Given the description of an element on the screen output the (x, y) to click on. 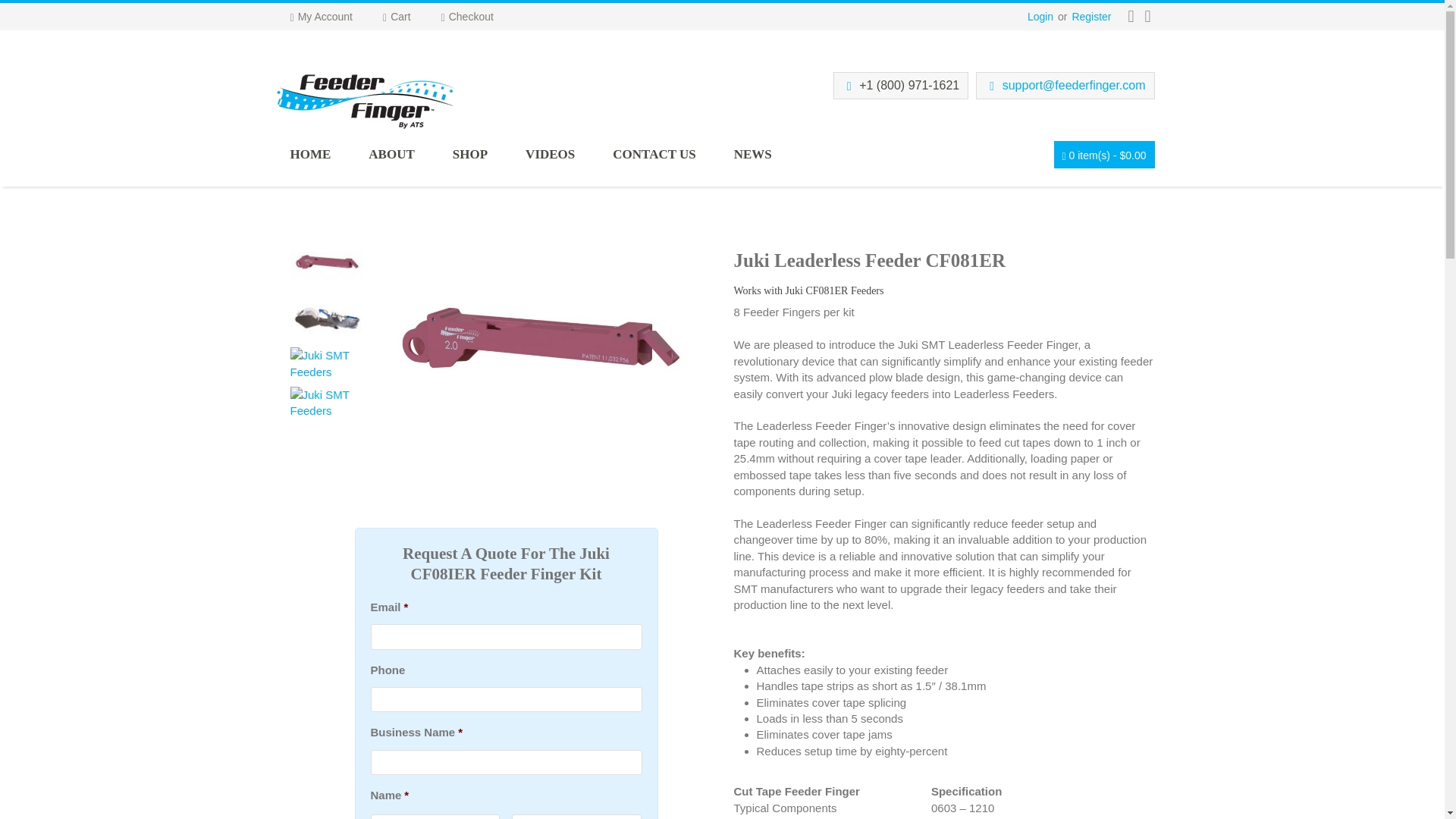
Juki Leaderless SMT Feeders (325, 260)
VIDEOS (568, 160)
Cart (411, 16)
Packaging Web Image (325, 400)
ABOUT (409, 160)
Checkout (482, 16)
HOME (328, 160)
Juki Leaderless Feeder CF081ER (325, 362)
Register (1091, 16)
